Given the description of an element on the screen output the (x, y) to click on. 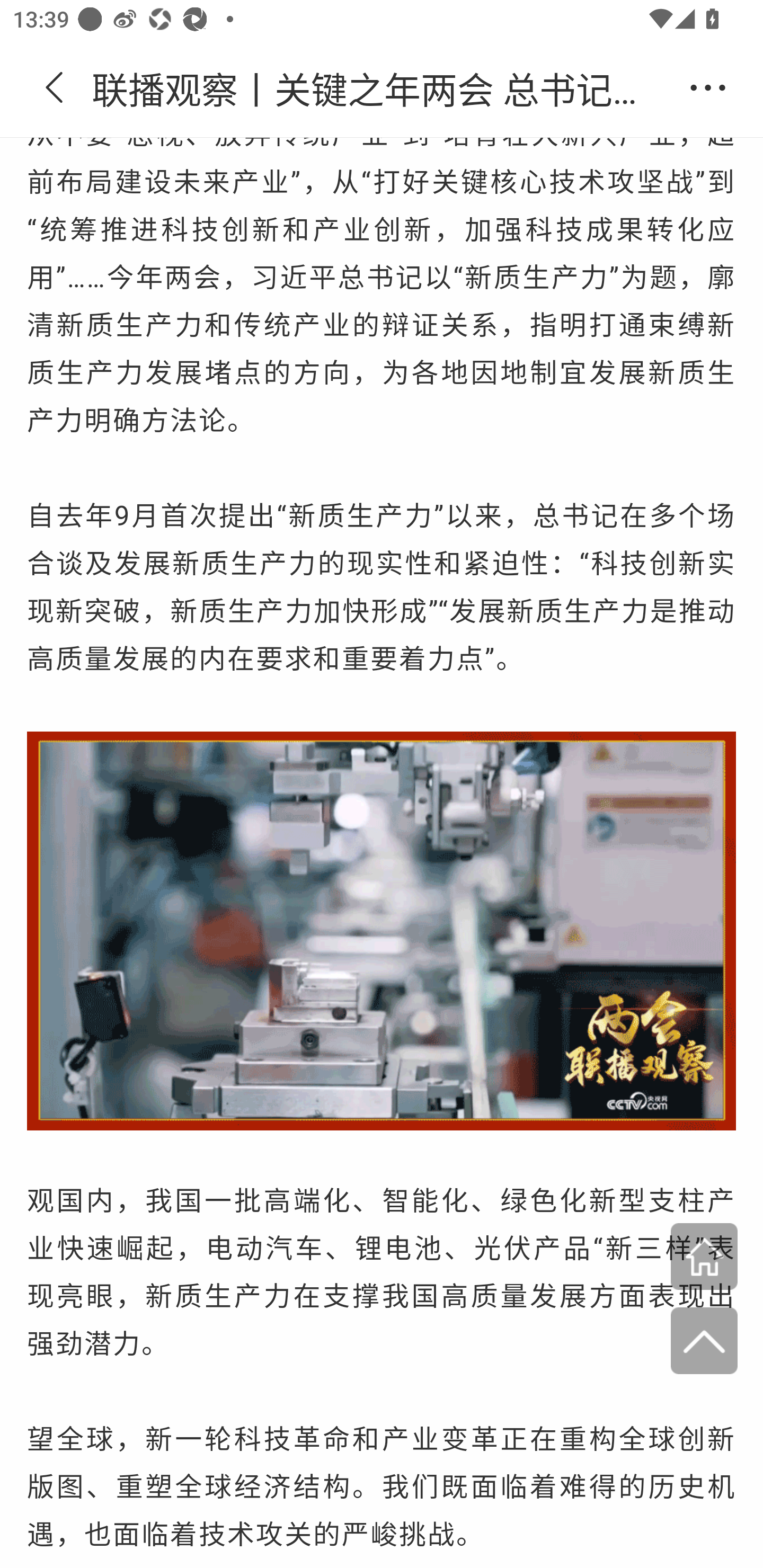
联播观察丨关键之年两会 总书记关注这三“新” (381, 87)
 返回 (54, 87)
 更多 (707, 87)
www.cctv (703, 1258)
